Given the description of an element on the screen output the (x, y) to click on. 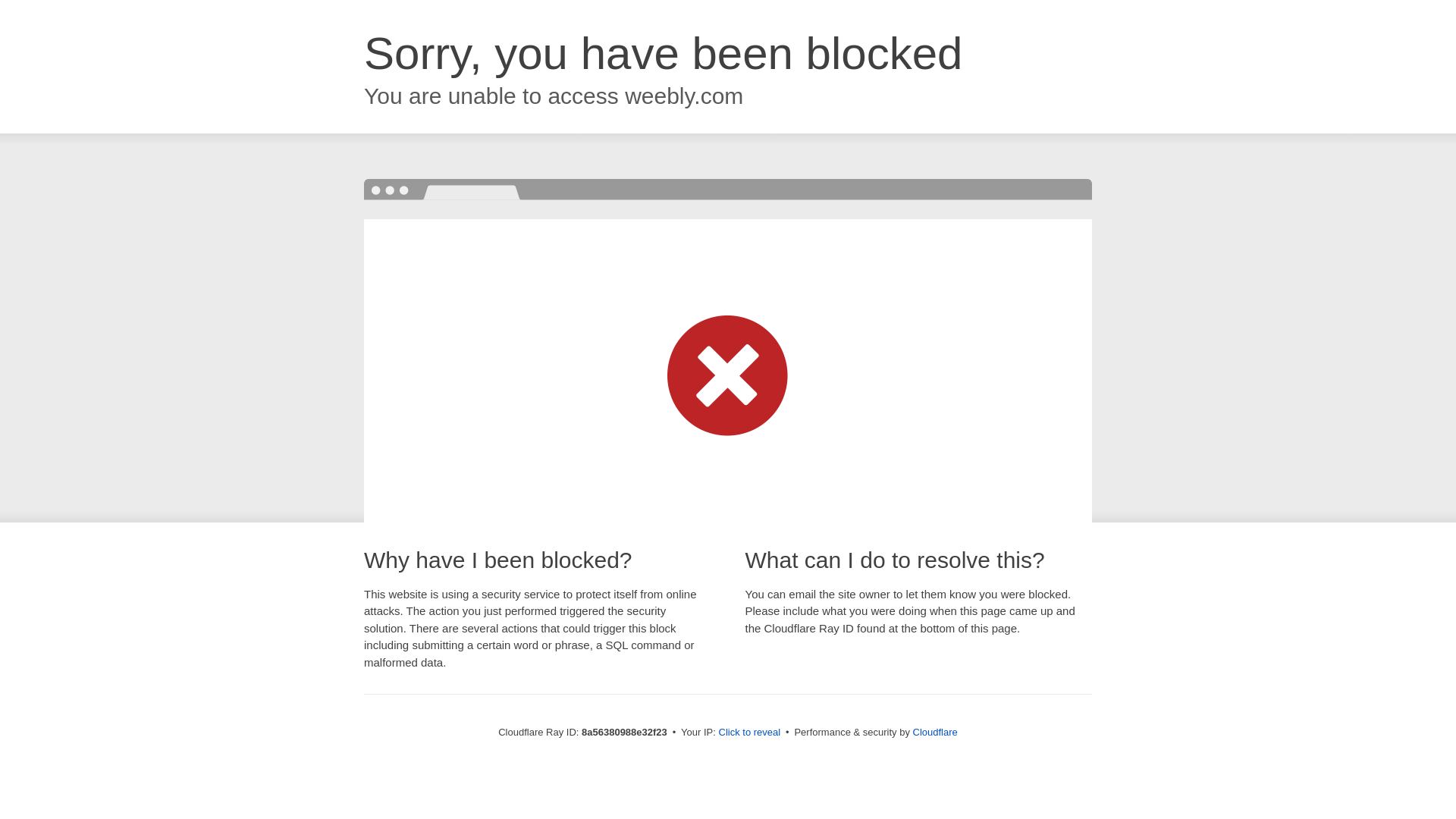
Click to reveal (749, 732)
Cloudflare (935, 731)
